Given the description of an element on the screen output the (x, y) to click on. 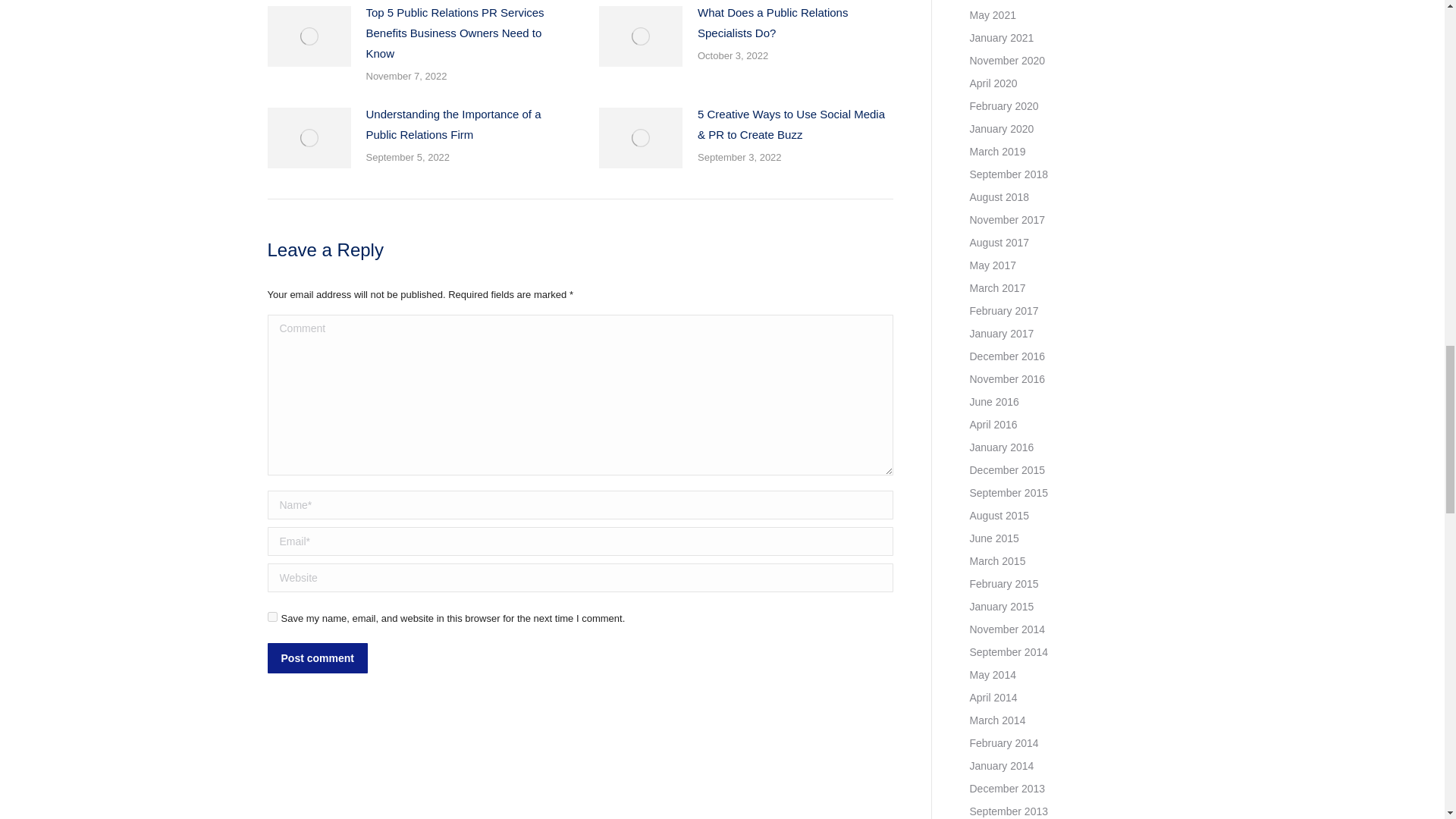
yes (271, 616)
Post comment (316, 657)
What Does a Public Relations Specialists Do? (795, 22)
Understanding the Importance of a Public Relations Firm (462, 124)
